Given the description of an element on the screen output the (x, y) to click on. 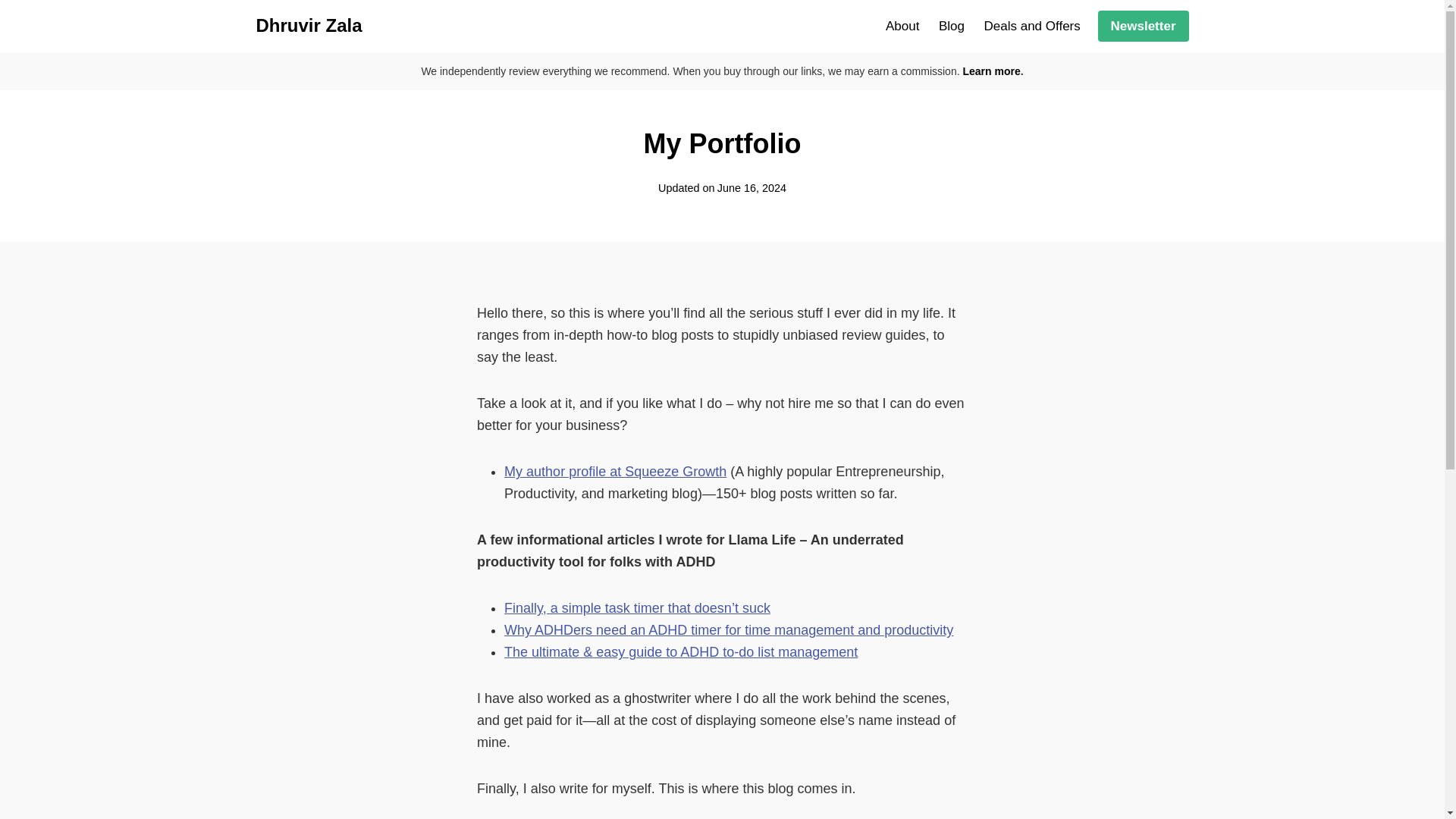
Blog (951, 26)
Newsletter (1143, 25)
Deals and Offers (1032, 26)
About (902, 26)
My author profile at Squeeze Growth (614, 471)
Learn more (991, 70)
Dhruvir Zala (309, 25)
